Given the description of an element on the screen output the (x, y) to click on. 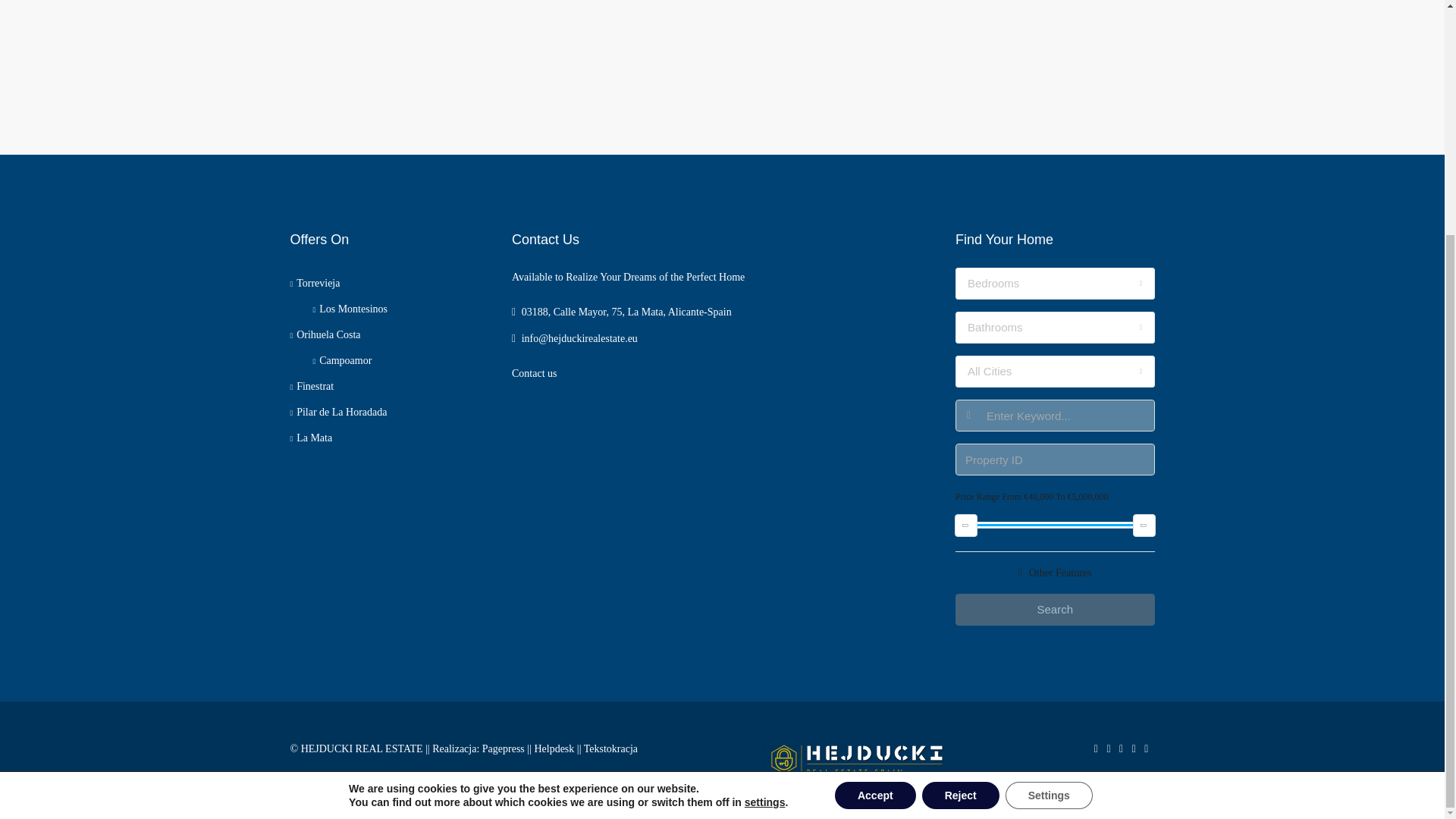
Bathrooms (1054, 327)
Bedrooms (1054, 283)
All Cities (1054, 371)
